Given the description of an element on the screen output the (x, y) to click on. 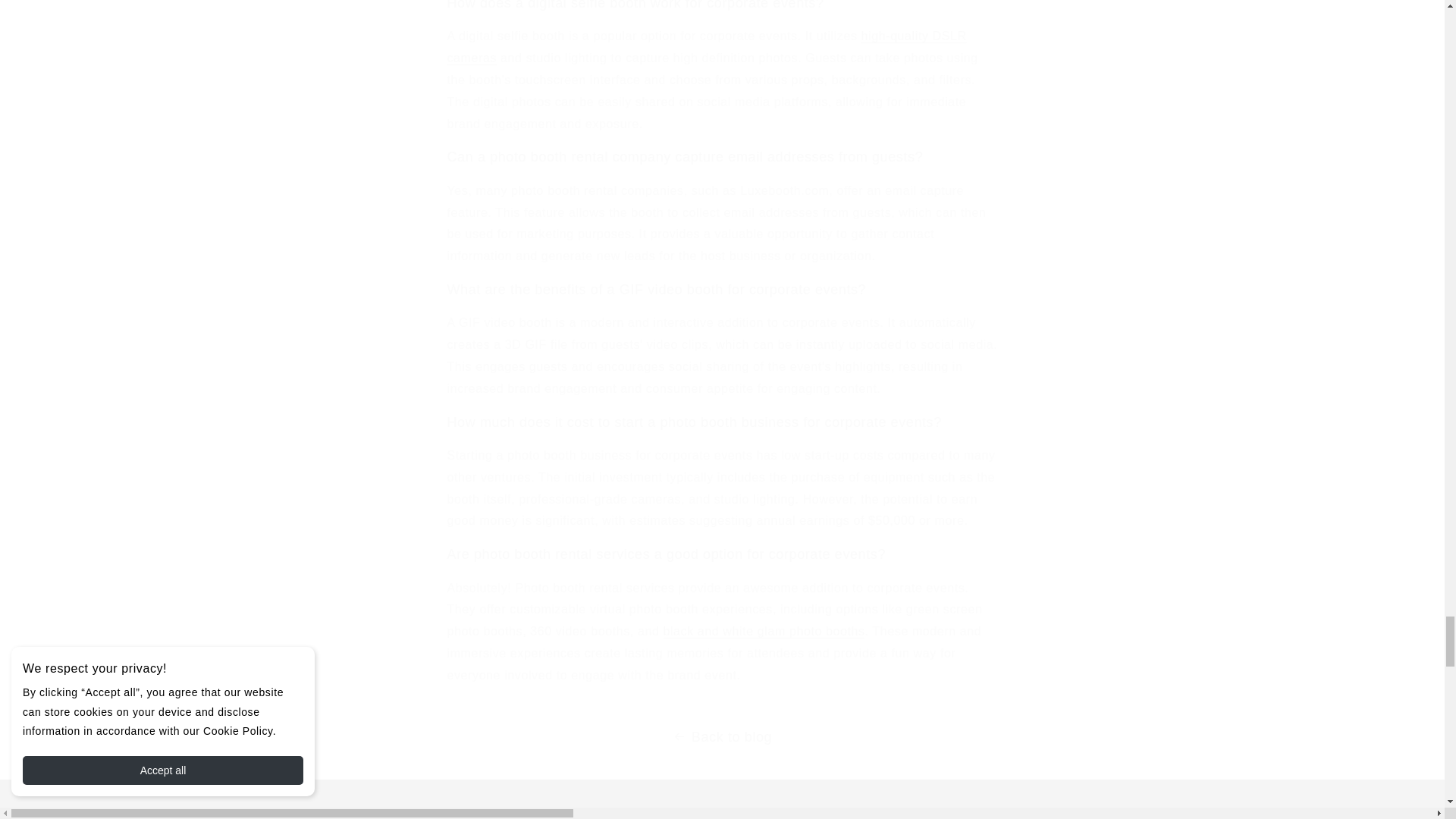
Back to blog (722, 736)
